Given the description of an element on the screen output the (x, y) to click on. 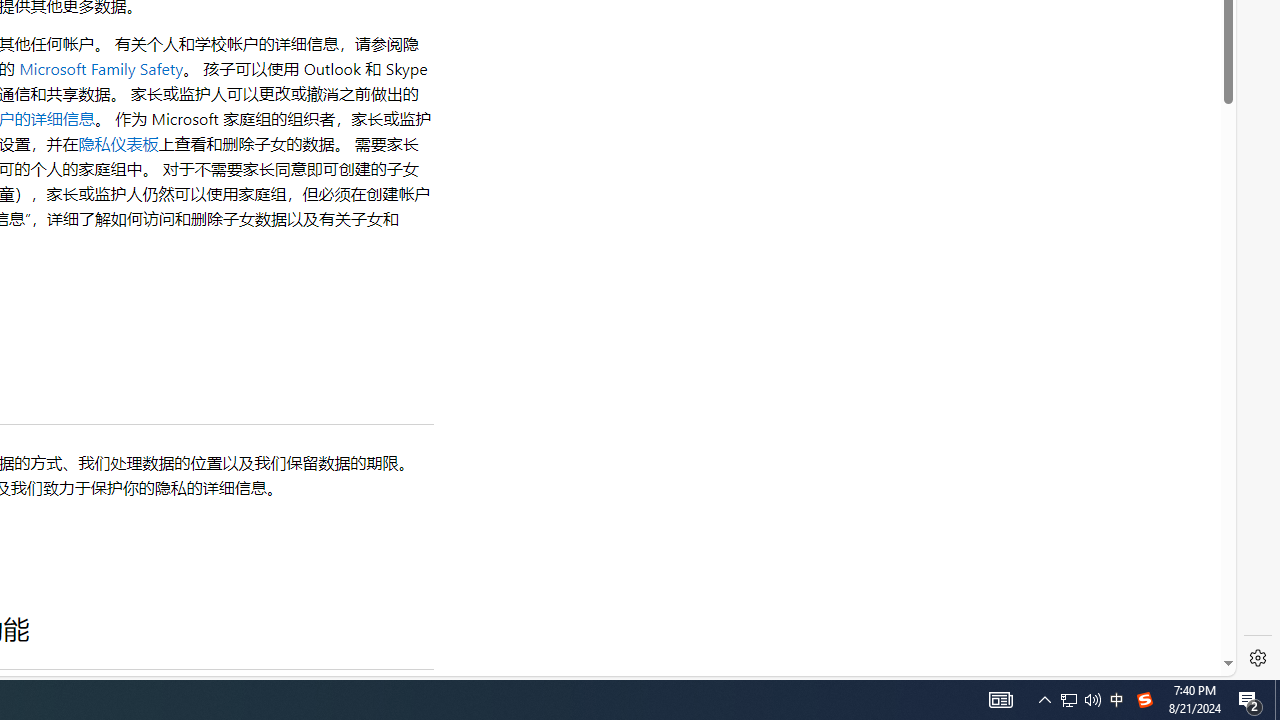
Microsoft Family Safety (101, 67)
